Given the description of an element on the screen output the (x, y) to click on. 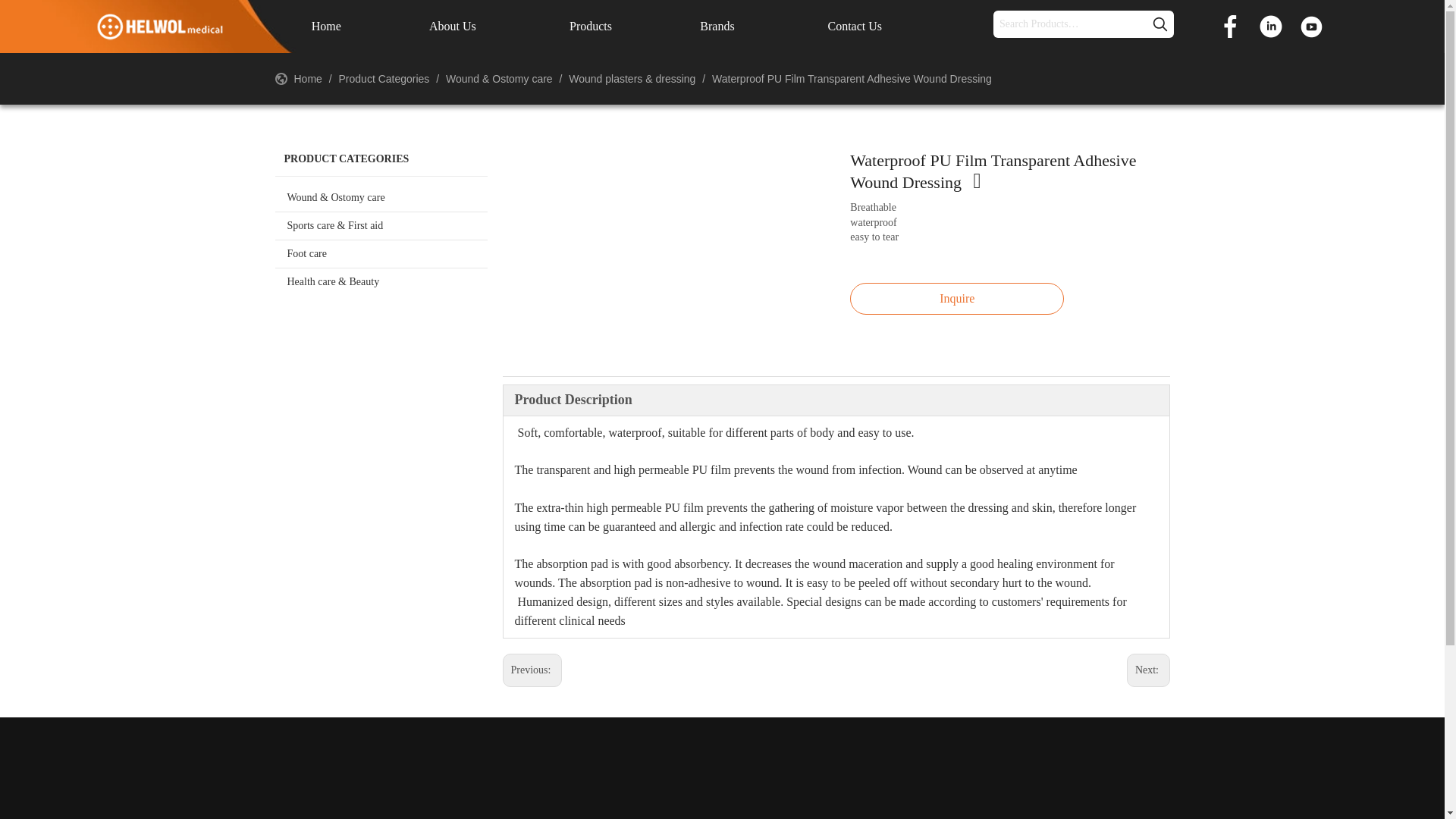
Youtube (1312, 26)
Home (309, 78)
Facebook (1229, 26)
Home (326, 26)
logo (159, 26)
Product Categories (385, 78)
Contact Us (854, 26)
Brands (716, 26)
About Us (452, 26)
Products (590, 26)
